Given the description of an element on the screen output the (x, y) to click on. 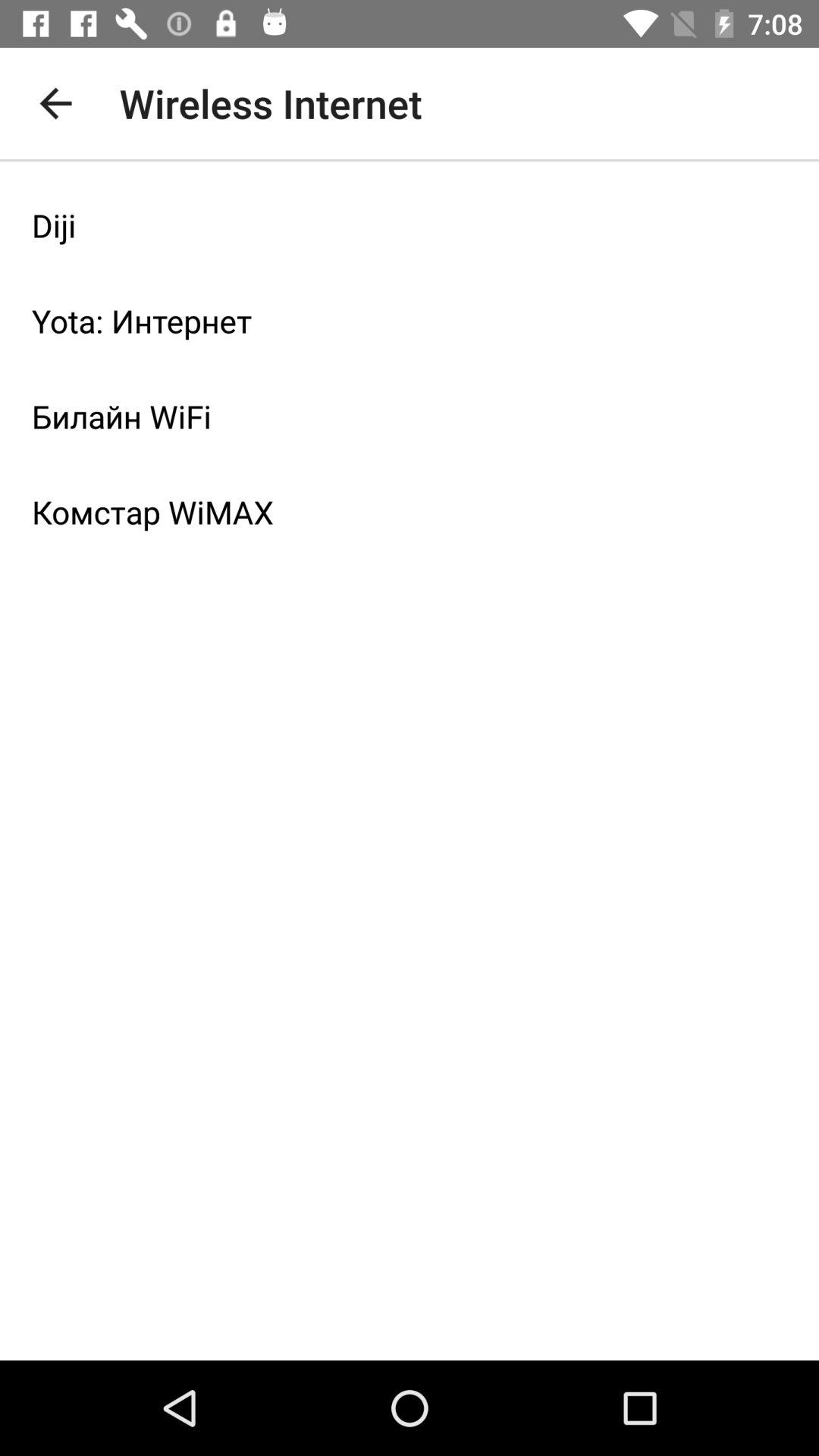
open item next to the wireless internet item (55, 103)
